Given the description of an element on the screen output the (x, y) to click on. 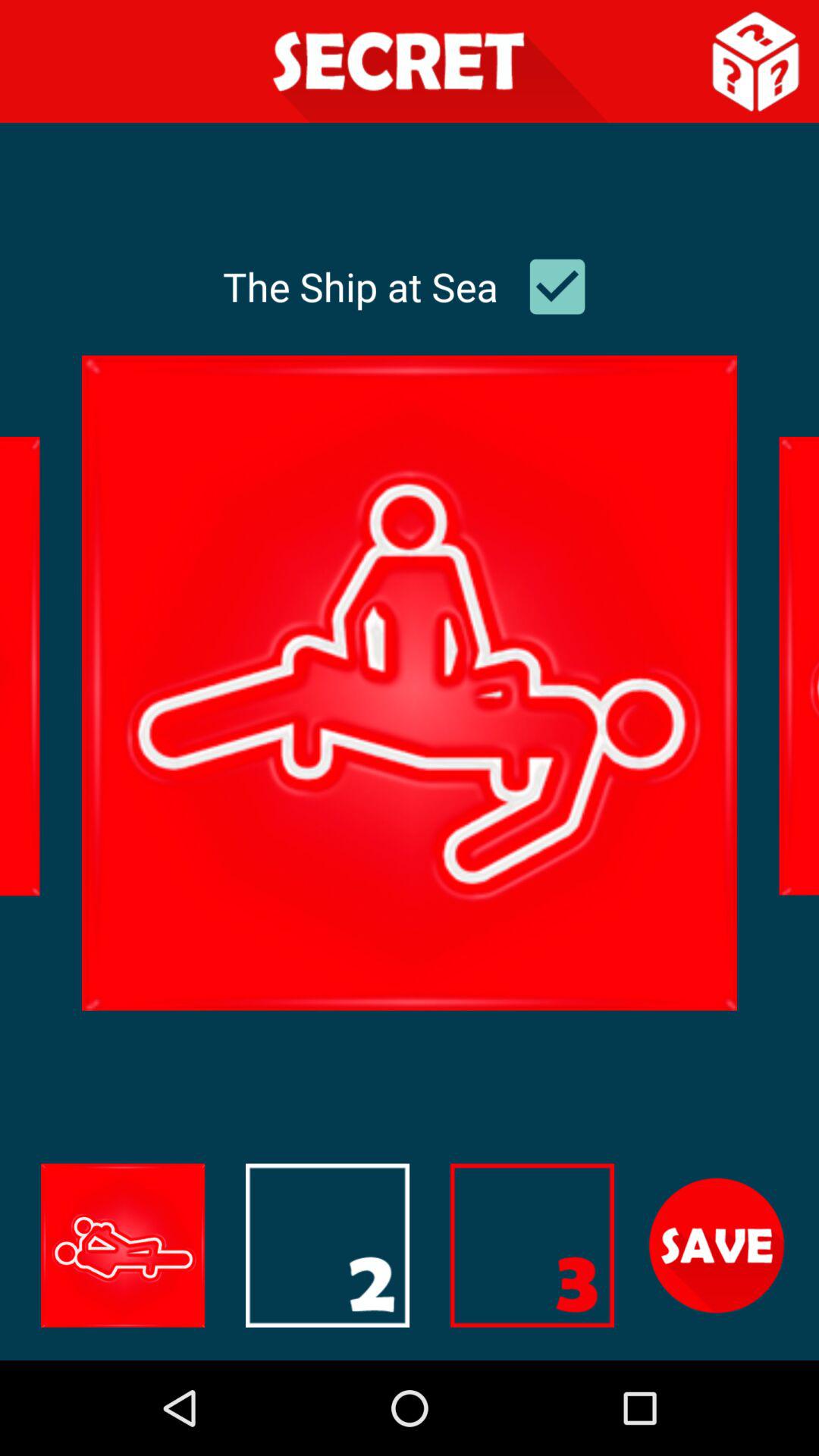
go to page 3 (532, 1245)
